Given the description of an element on the screen output the (x, y) to click on. 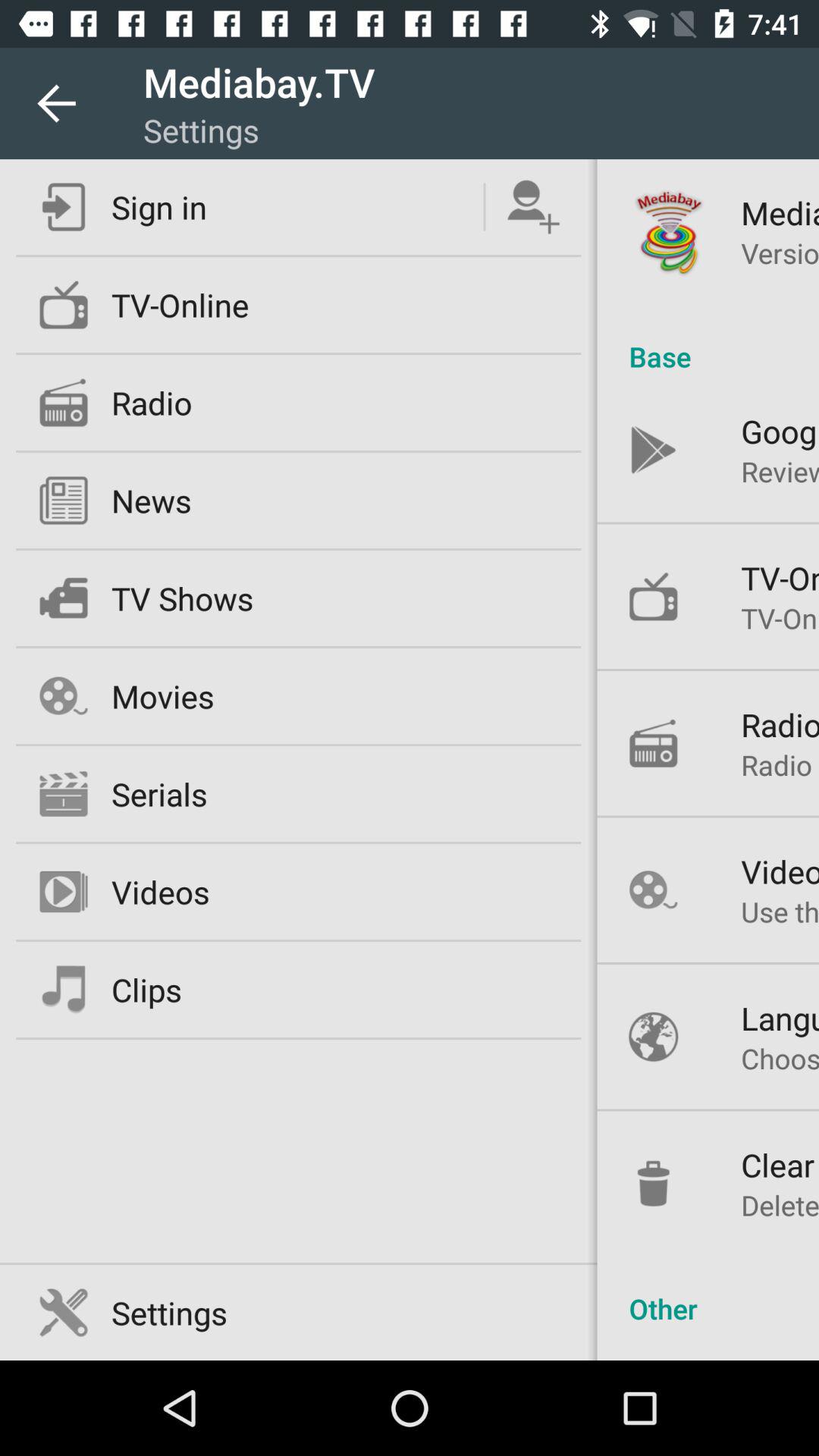
launch the item below the google play icon (780, 471)
